Given the description of an element on the screen output the (x, y) to click on. 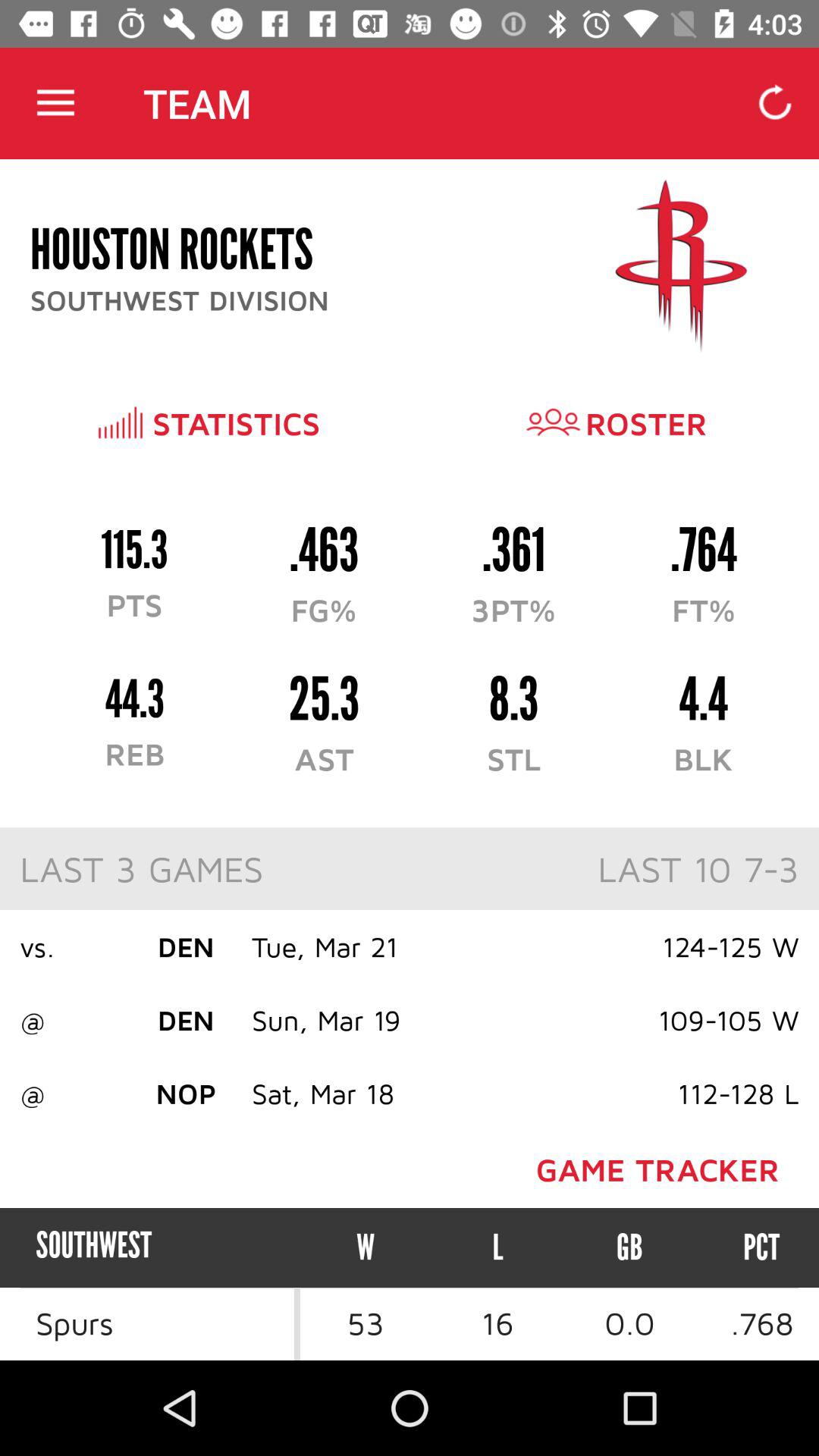
press gb (629, 1247)
